Given the description of an element on the screen output the (x, y) to click on. 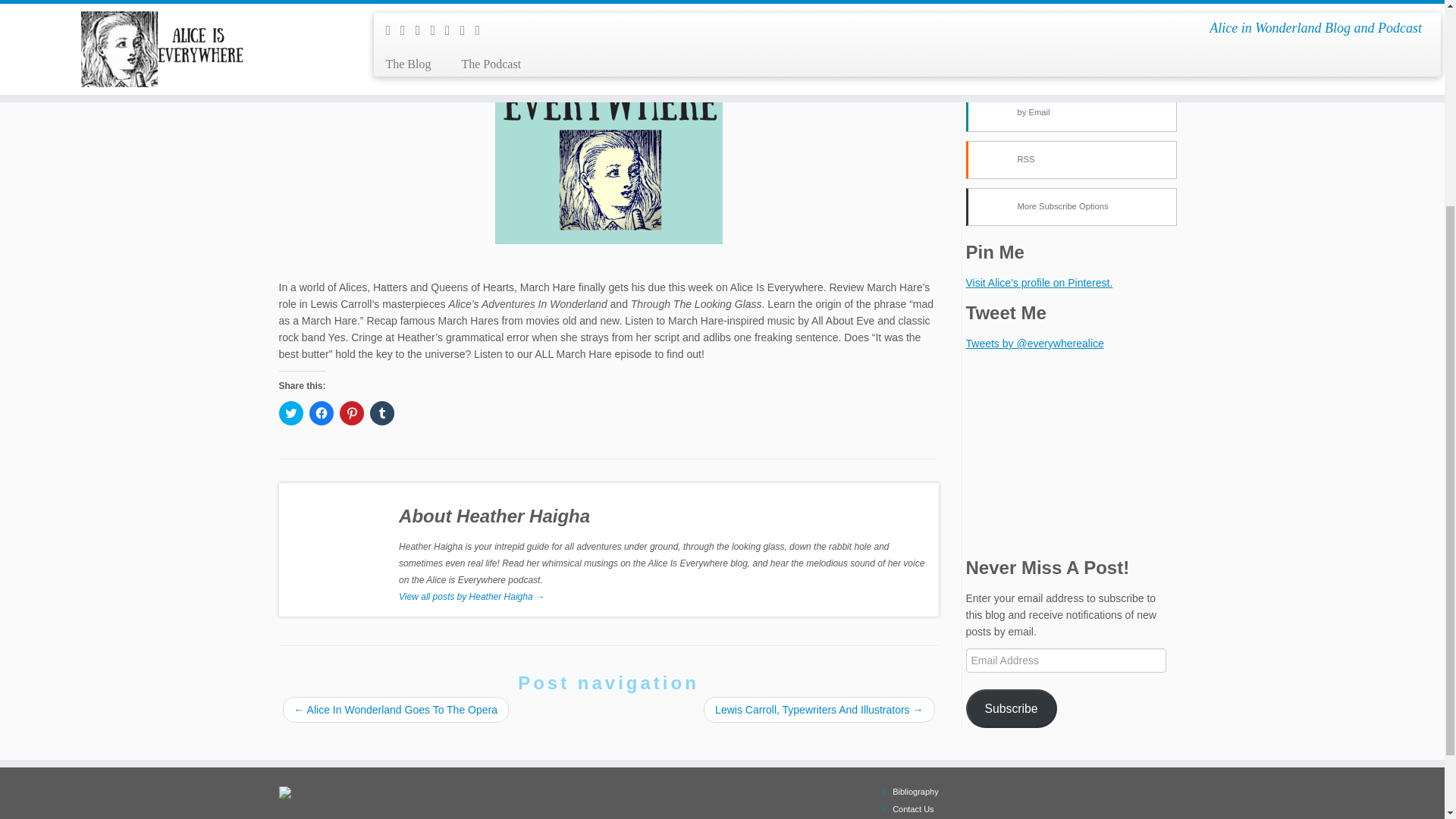
Google Podcasts (1071, 18)
Android (1071, 65)
Visit Alice's profile on Pinterest. (1039, 282)
by Email (1071, 112)
More Subscribe Options (1071, 207)
RSS (1071, 159)
More (491, 2)
Subscribe on Apple Podcasts (367, 2)
RSS (459, 2)
Apple Podcasts (367, 2)
Subscribe by Email (426, 2)
Email (426, 2)
